Given the description of an element on the screen output the (x, y) to click on. 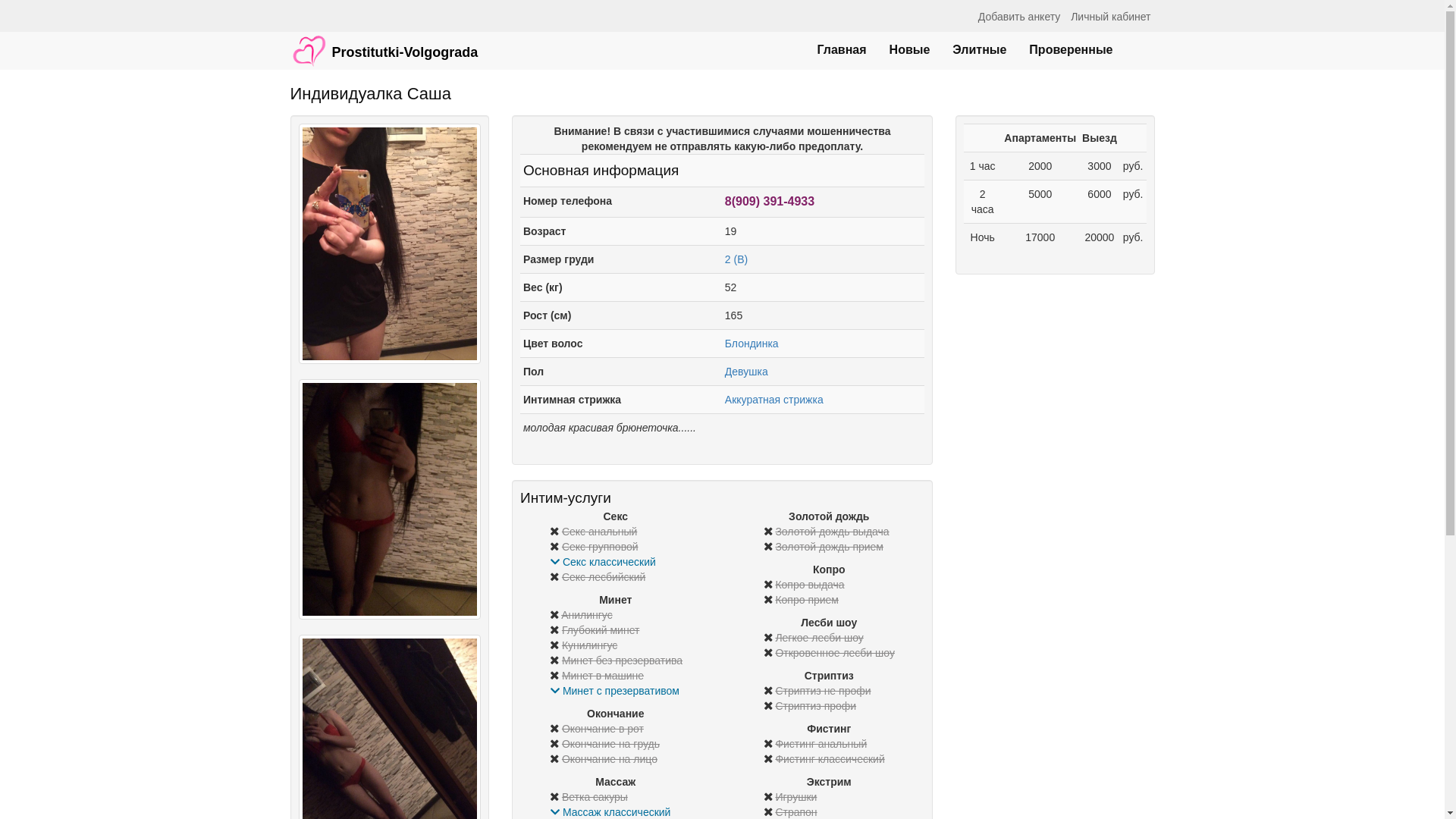
Prostitutki-Volgograda Element type: text (384, 43)
2 (B) Element type: text (735, 259)
